Given the description of an element on the screen output the (x, y) to click on. 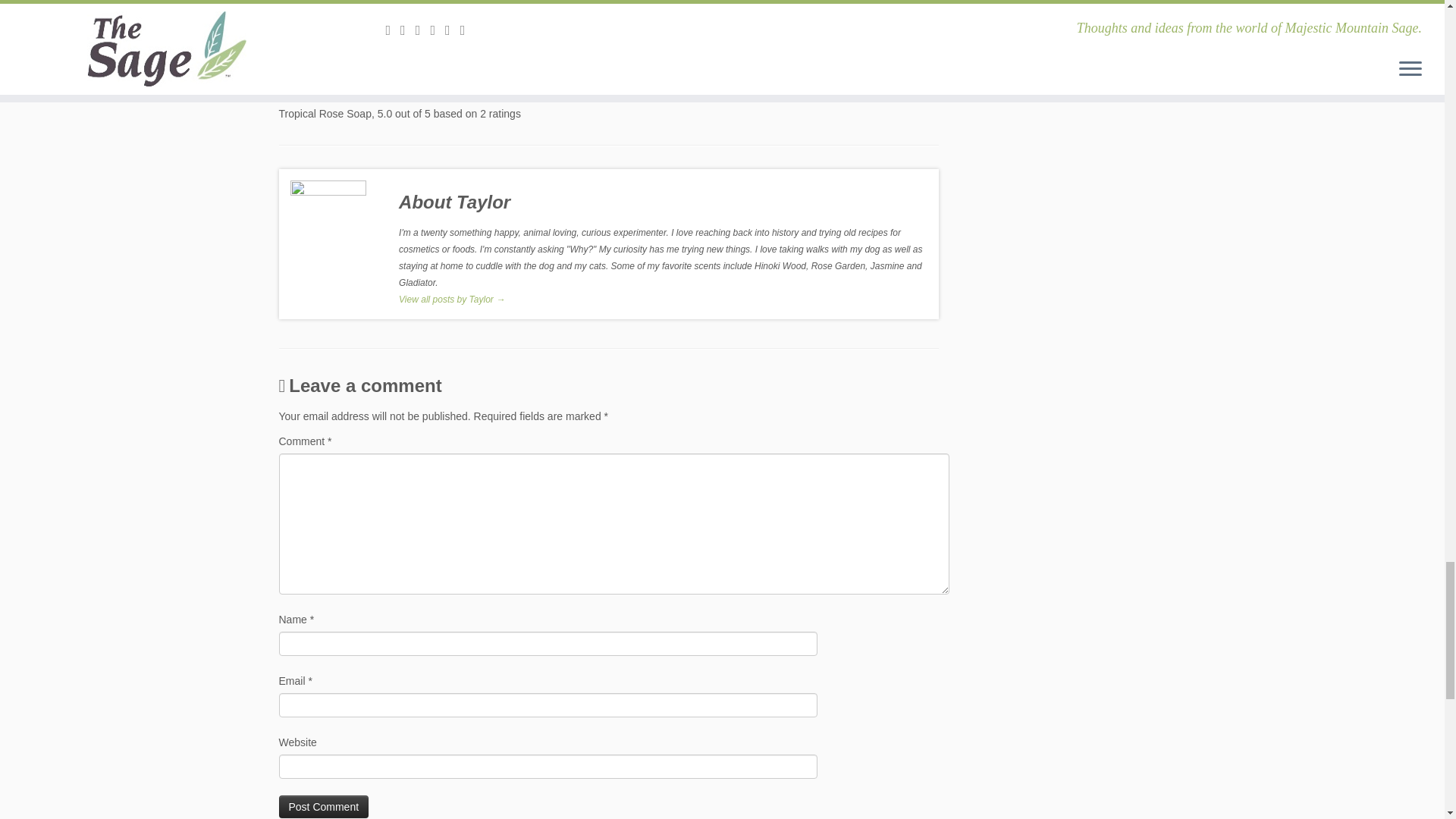
Post Comment (324, 806)
